Given the description of an element on the screen output the (x, y) to click on. 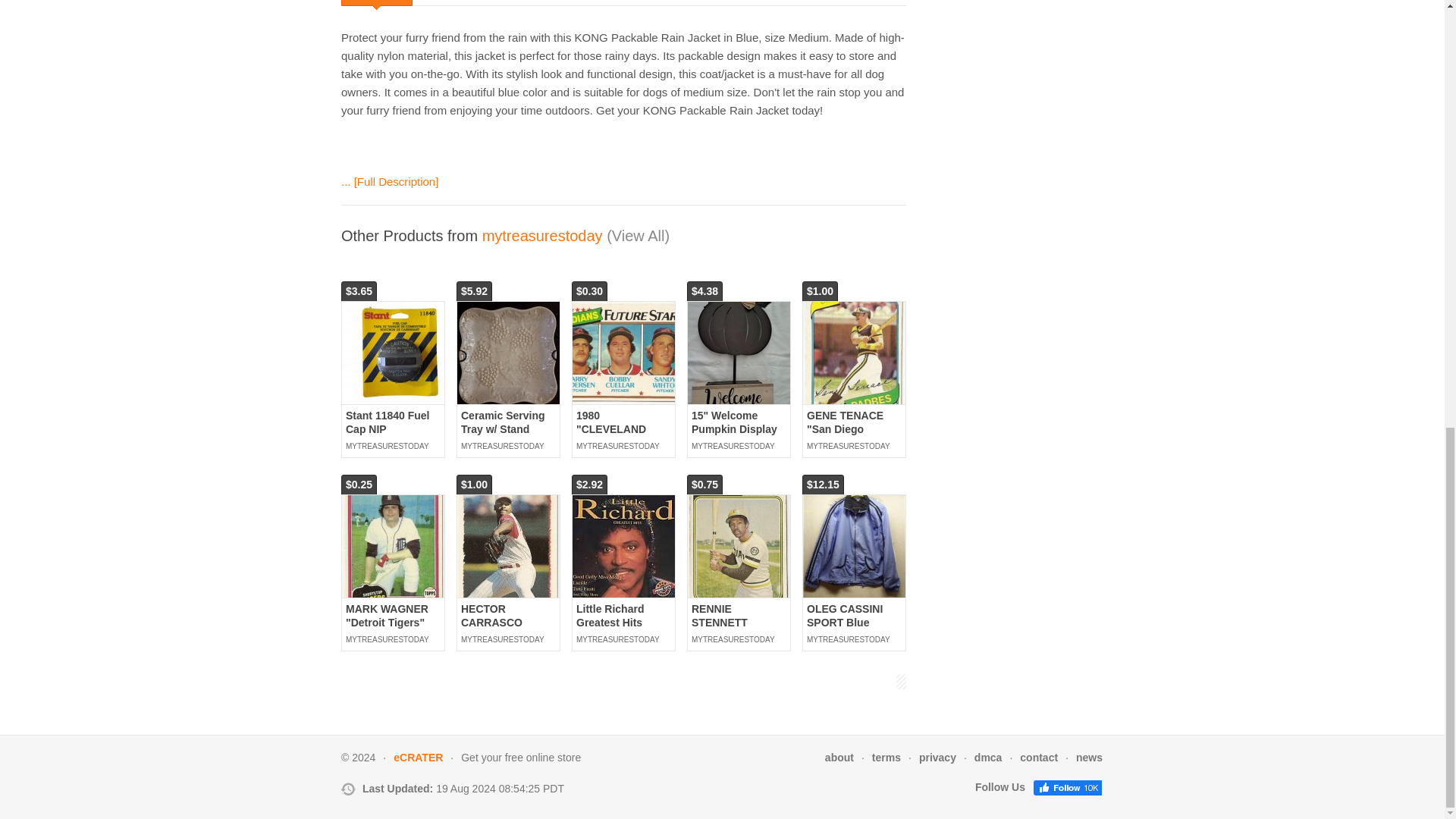
Stant 11840 Fuel Cap NIP (387, 421)
15" Welcome Pumpkin Display Decoration (738, 353)
15" Welcome Pumpkin Display Decoration (734, 428)
Stant 11840 Fuel Cap NIP (393, 353)
